Given the description of an element on the screen output the (x, y) to click on. 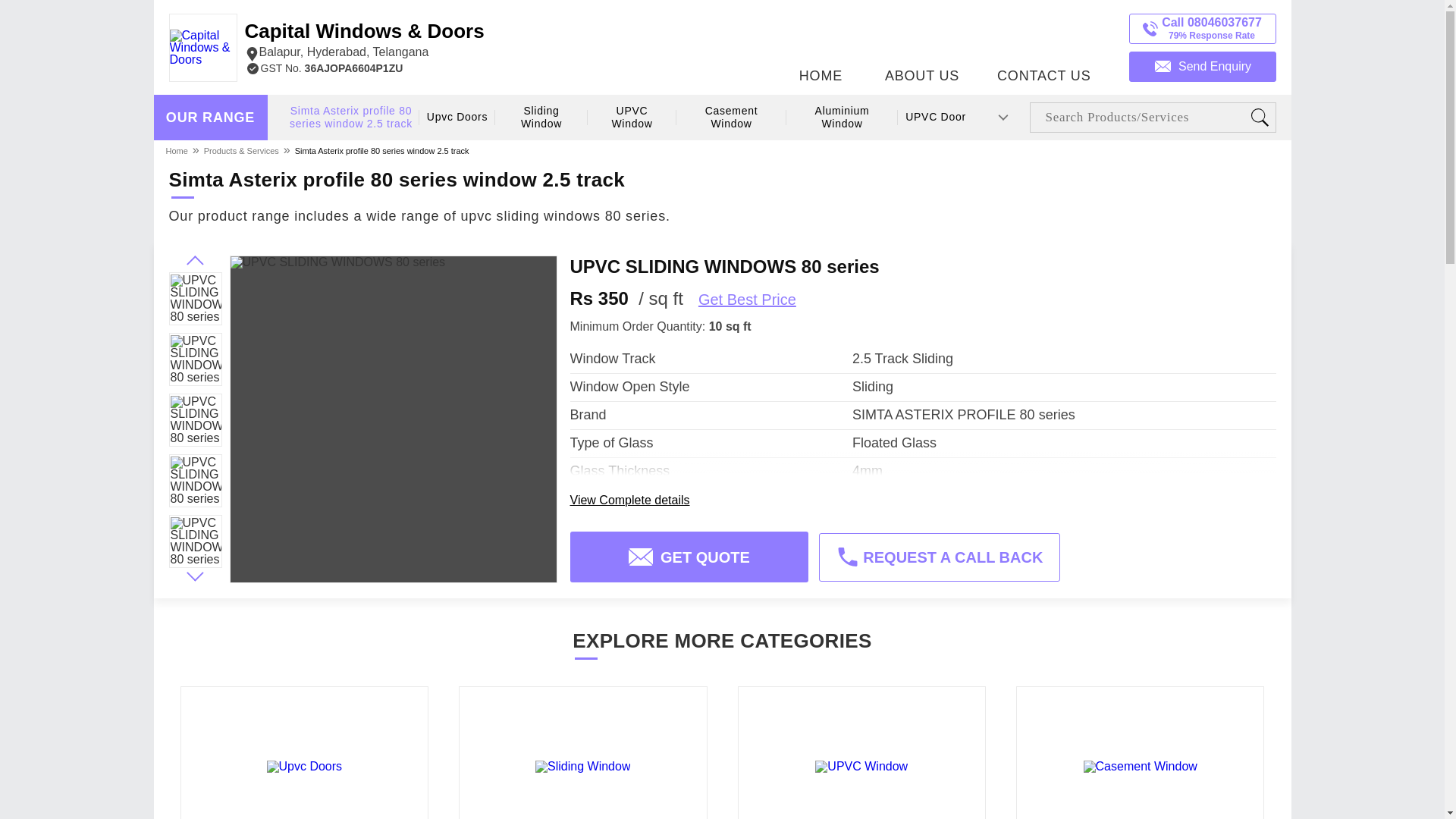
UPVC Door (935, 117)
Simta Asterix profile 80 series window 2.5 track (382, 150)
ABOUT US (921, 43)
Upvc Doors (457, 117)
UPVC Window (632, 117)
OUR RANGE (209, 117)
CONTACT US (1043, 43)
Aluminium Window (842, 117)
Home (176, 150)
Casement Window (731, 117)
